Given the description of an element on the screen output the (x, y) to click on. 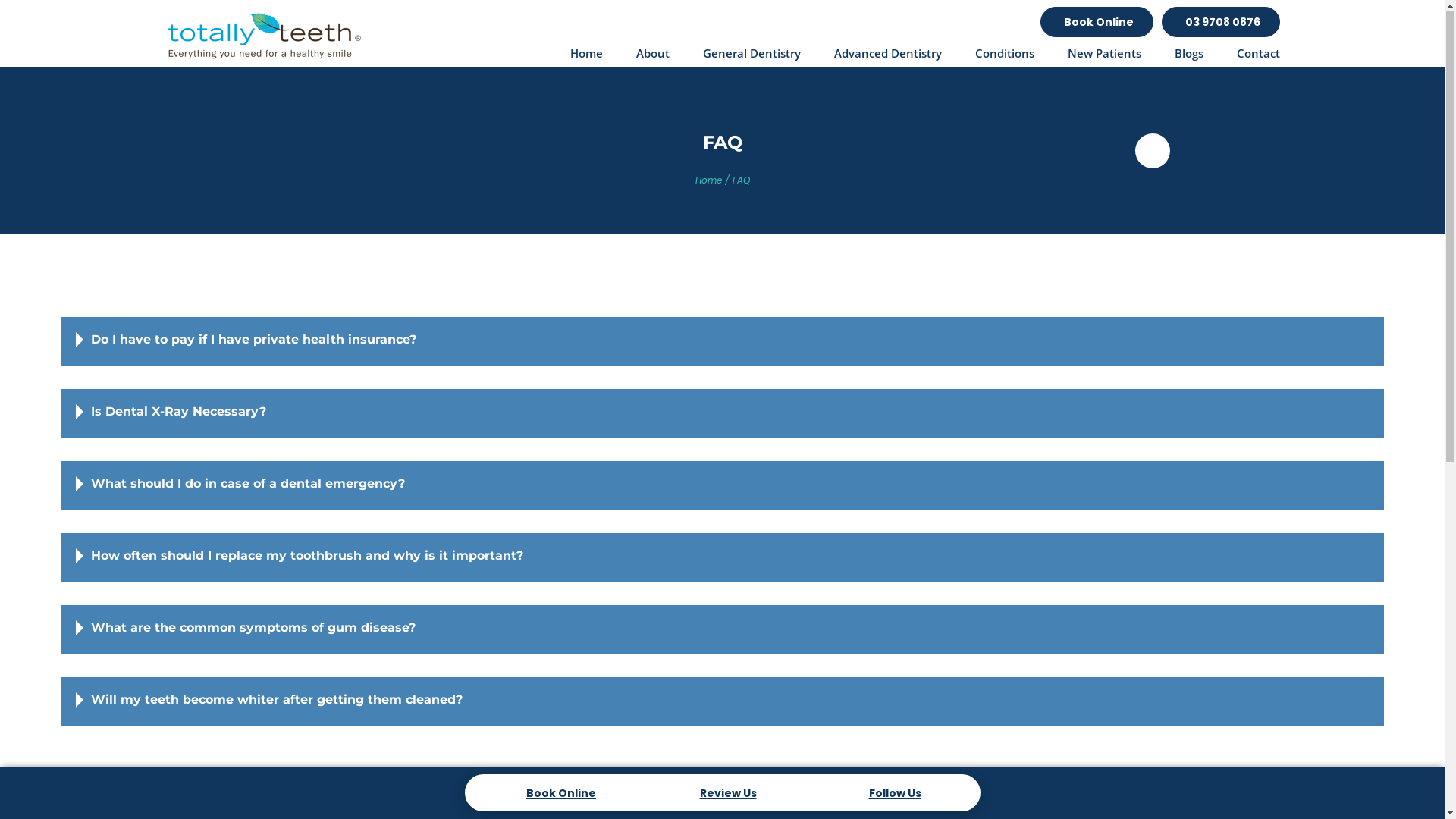
Contact Element type: text (1257, 55)
Blogs Element type: text (1187, 55)
03 9708 0876 Element type: text (1220, 22)
About Element type: text (651, 55)
Advanced Dentistry Element type: text (887, 55)
New Patients Element type: text (1104, 55)
Home Element type: text (707, 180)
Book Online Element type: text (1096, 22)
Review Us Element type: text (722, 793)
Dentist Endeavour Hills | Totally Teeth Element type: hover (265, 35)
Follow Us Element type: text (888, 793)
Home Element type: text (586, 55)
Conditions Element type: text (1004, 55)
General Dentistry Element type: text (751, 55)
Book Online Element type: text (555, 793)
